Given the description of an element on the screen output the (x, y) to click on. 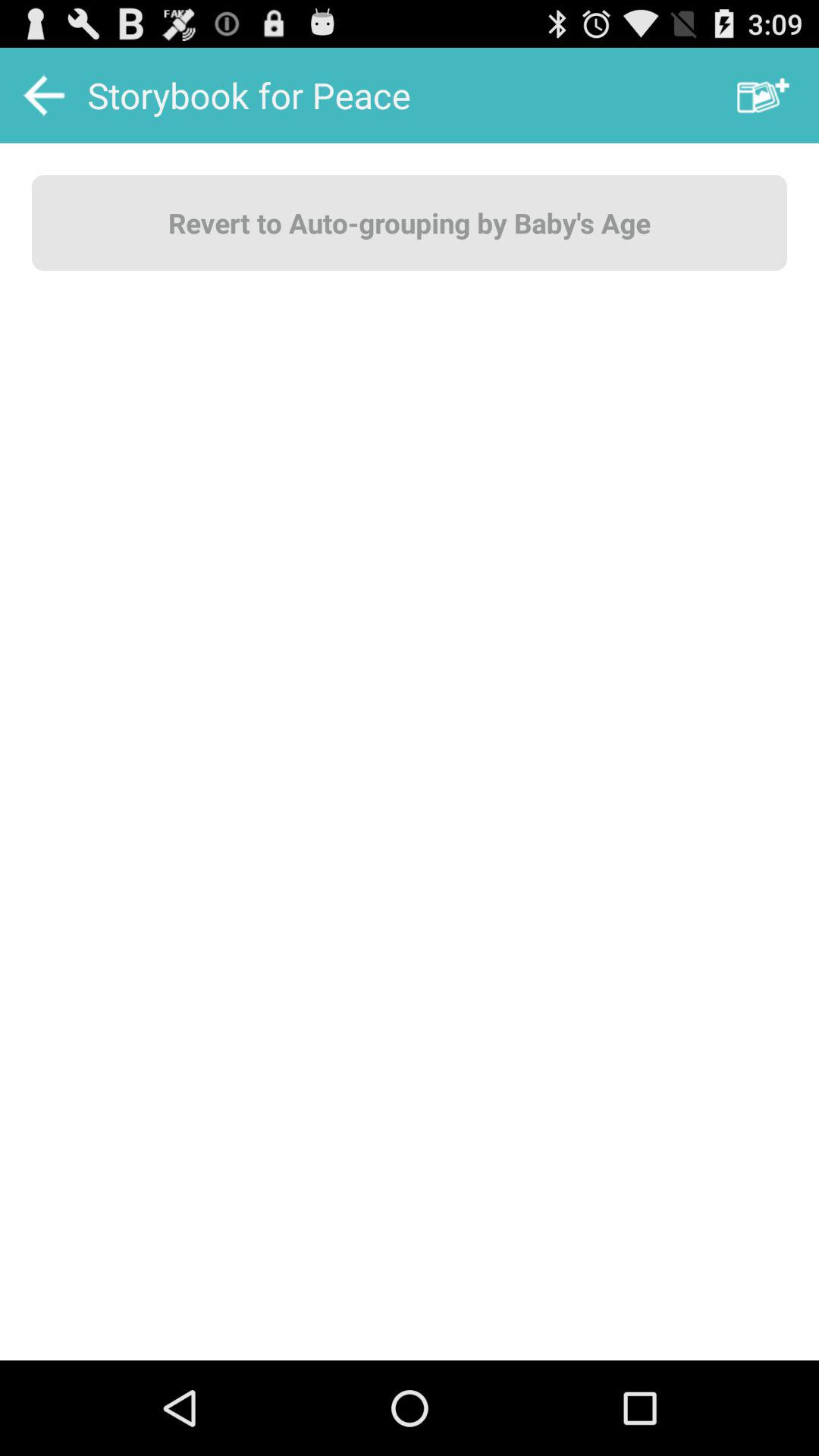
choose the revert to auto at the top (409, 222)
